Given the description of an element on the screen output the (x, y) to click on. 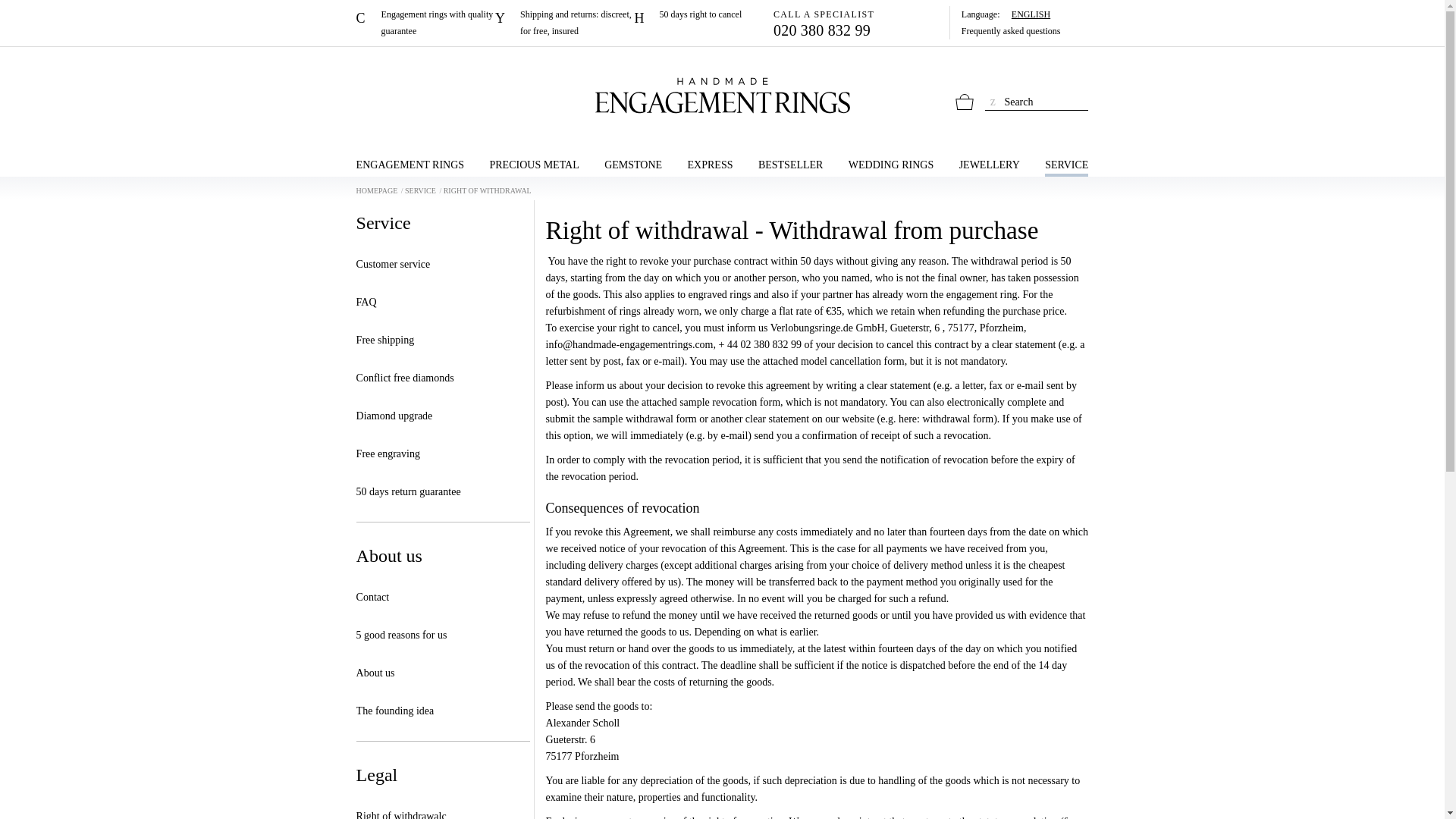
50 days right to cancel (703, 13)
Frequently asked questions (1023, 30)
z (992, 100)
z (992, 100)
handmade-engagementrings.com (722, 94)
Engagement rings with quality guarantee (425, 22)
Shipping and returns: discreet, for free, insured (564, 22)
Language: ENGLISH (1023, 13)
